Given the description of an element on the screen output the (x, y) to click on. 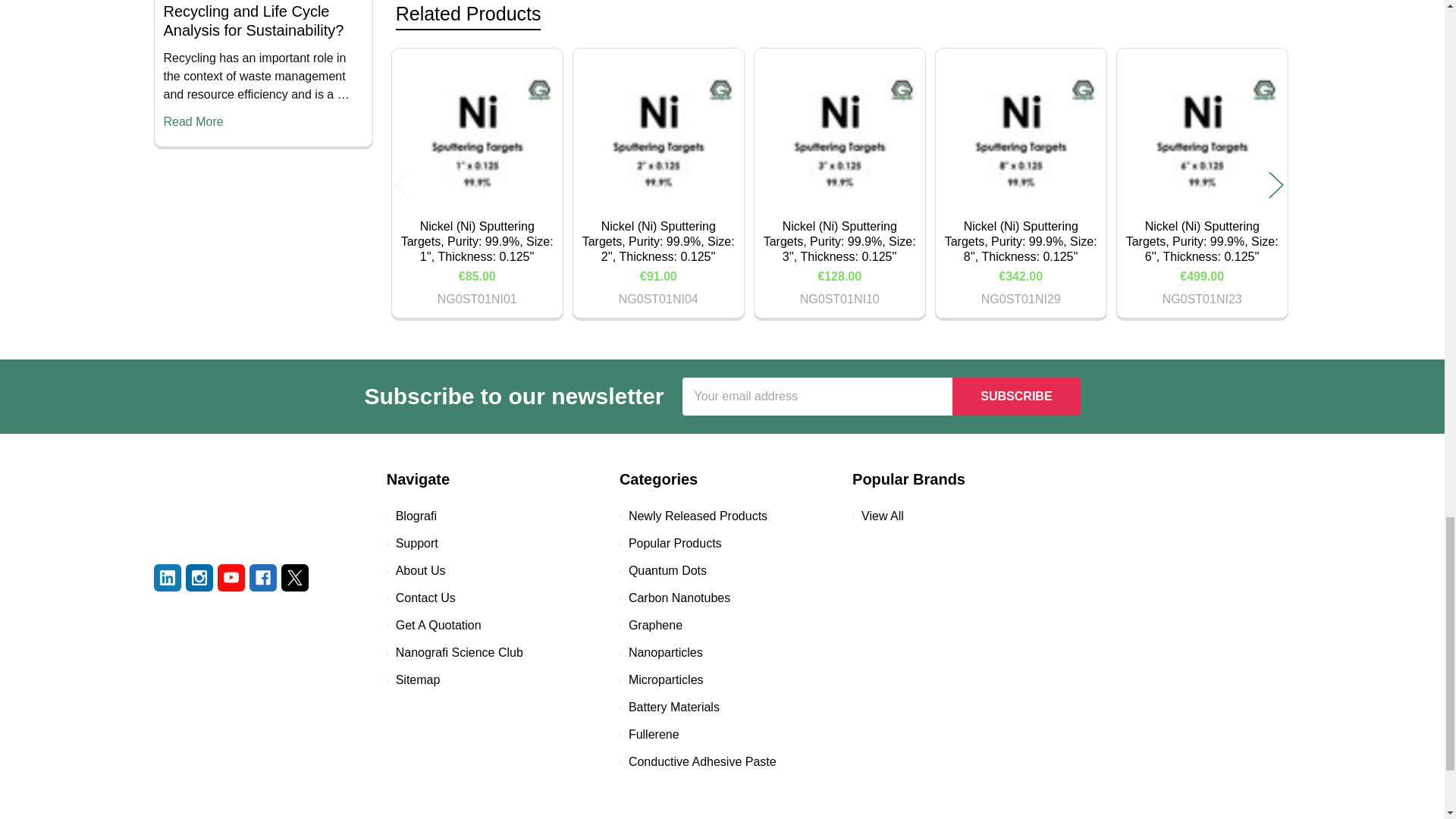
Subscribe (1016, 396)
